Given the description of an element on the screen output the (x, y) to click on. 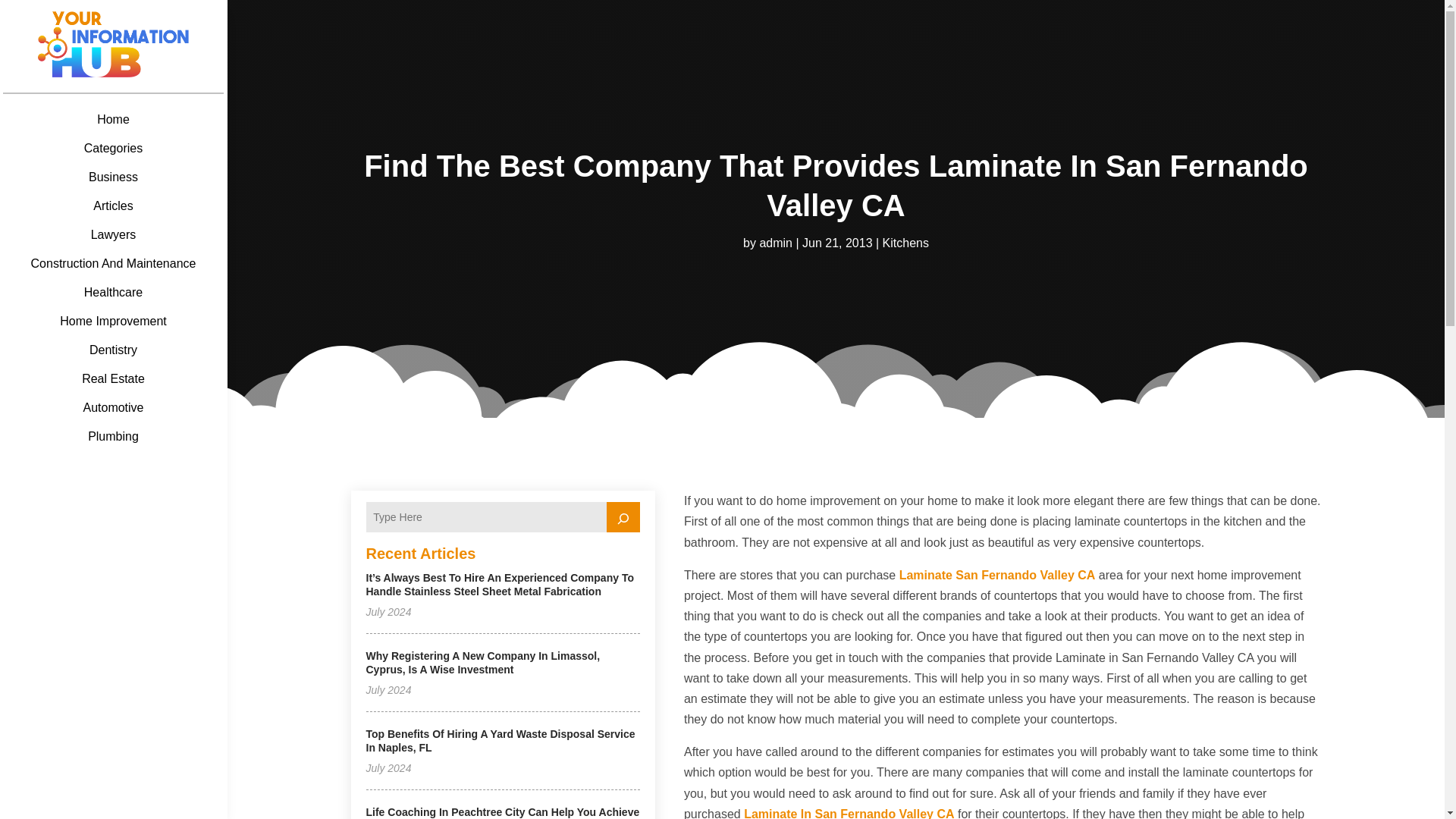
Categories (113, 148)
Construction And Maintenance (113, 263)
Lawyers (113, 234)
Business (113, 176)
Kitchens (905, 242)
Automotive (113, 407)
Laminate San Fernando Valley CA (997, 574)
Home Improvement (113, 321)
Laminate In San Fernando Valley CA (848, 813)
admin (775, 242)
Articles (113, 205)
Posts by admin (775, 242)
Dentistry (113, 349)
